Given the description of an element on the screen output the (x, y) to click on. 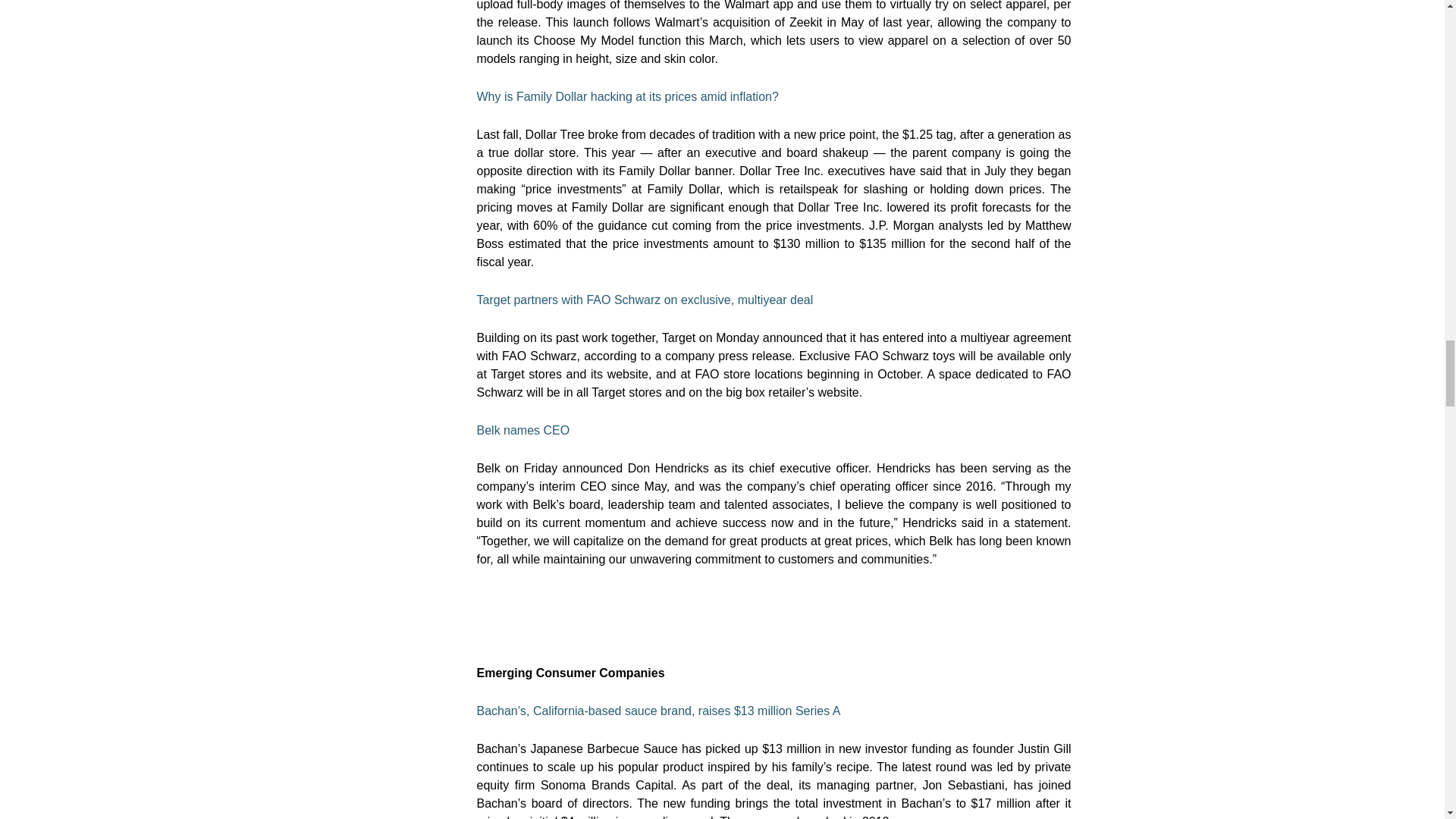
Why is Family Dollar hacking at its prices amid inflation? (626, 96)
Belk names CEO (522, 430)
